Given the description of an element on the screen output the (x, y) to click on. 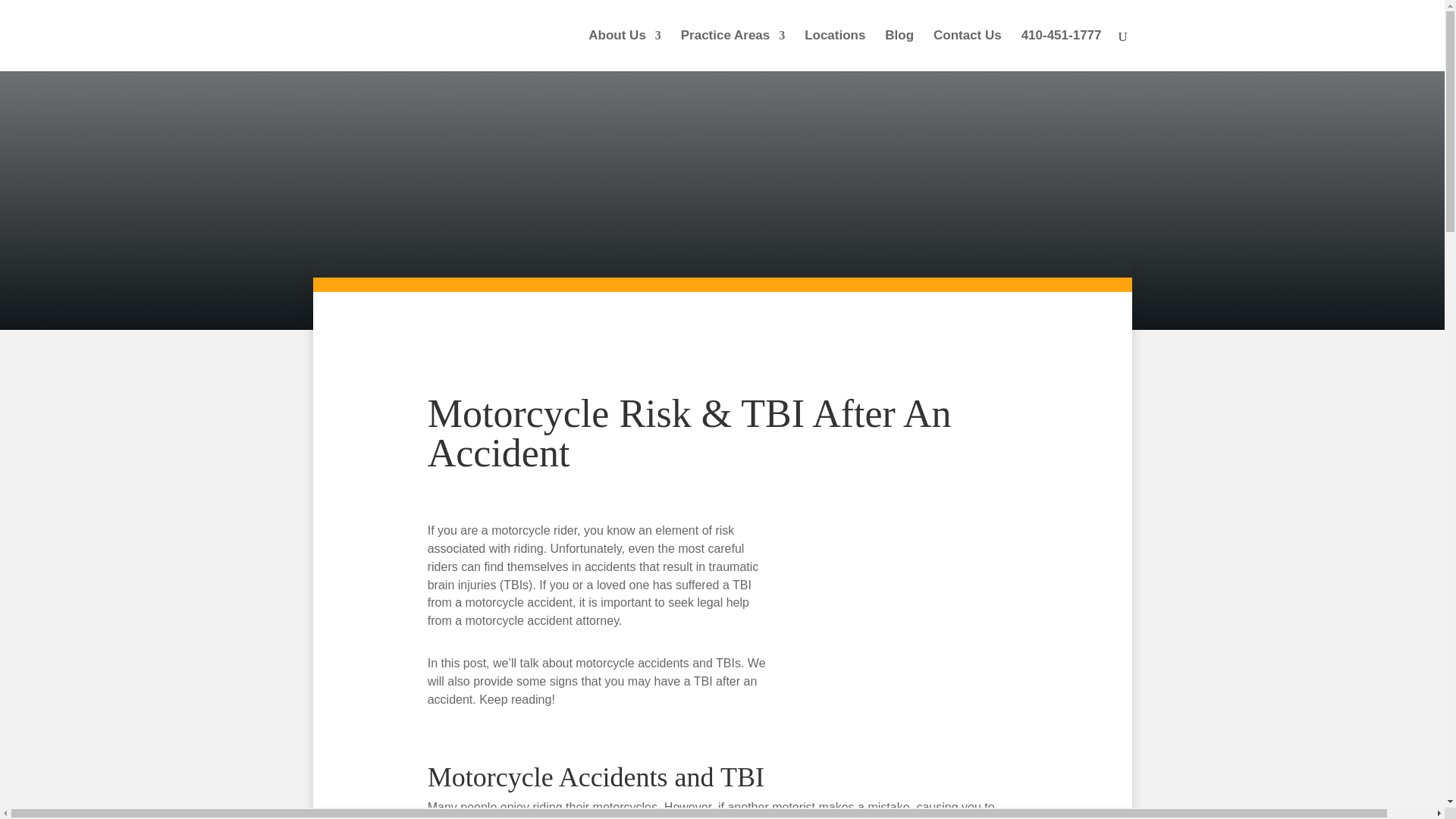
Locations (834, 50)
Contact Us (967, 50)
About Us (624, 50)
Practice Areas (733, 50)
410-451-1777 (1062, 50)
